Given the description of an element on the screen output the (x, y) to click on. 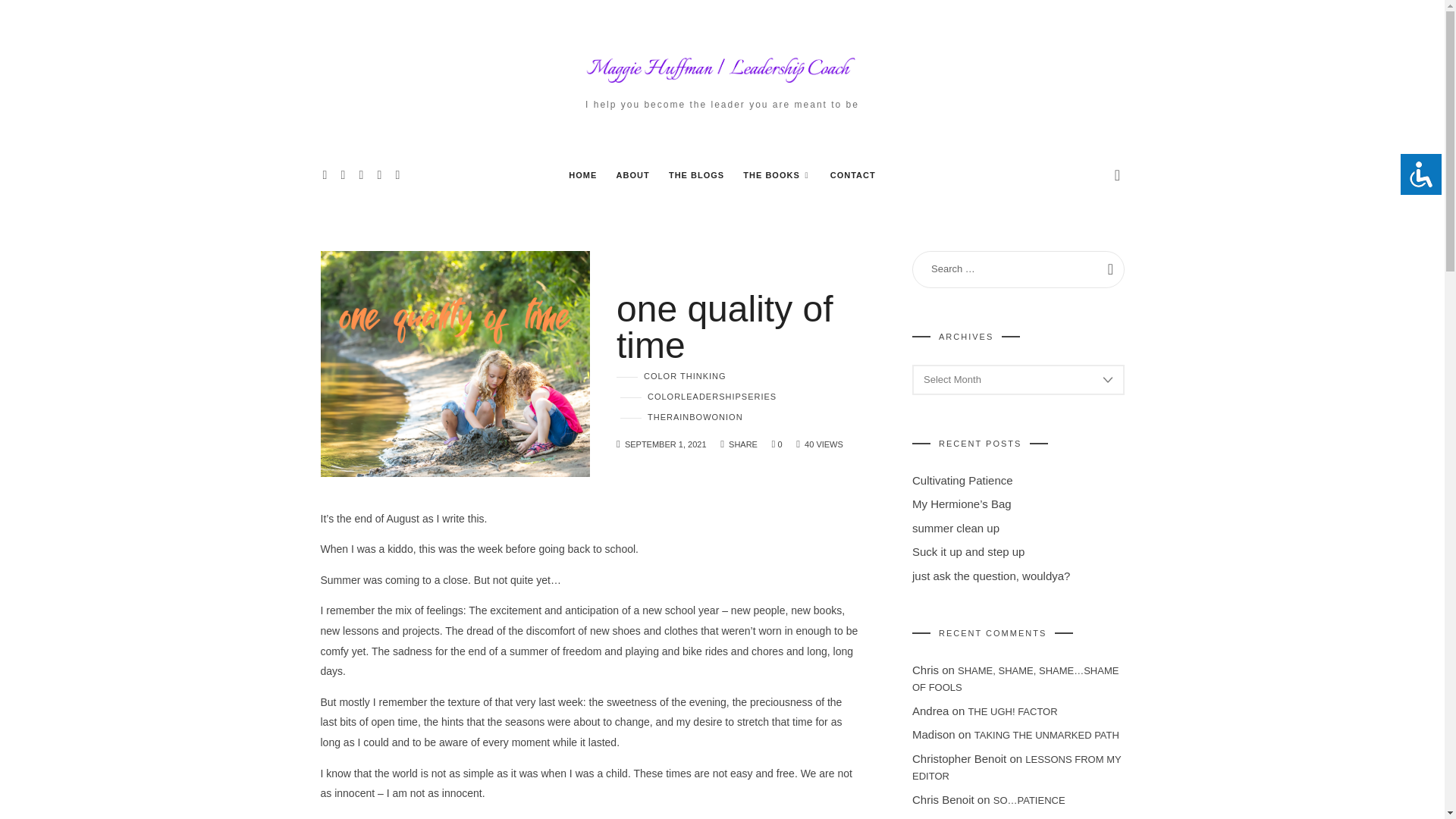
CONTACT (852, 175)
COLORLEADERSHIPSERIES (698, 396)
THE BLOGS (696, 175)
COLOR THINKING (670, 376)
THE BOOKS (776, 175)
